Given the description of an element on the screen output the (x, y) to click on. 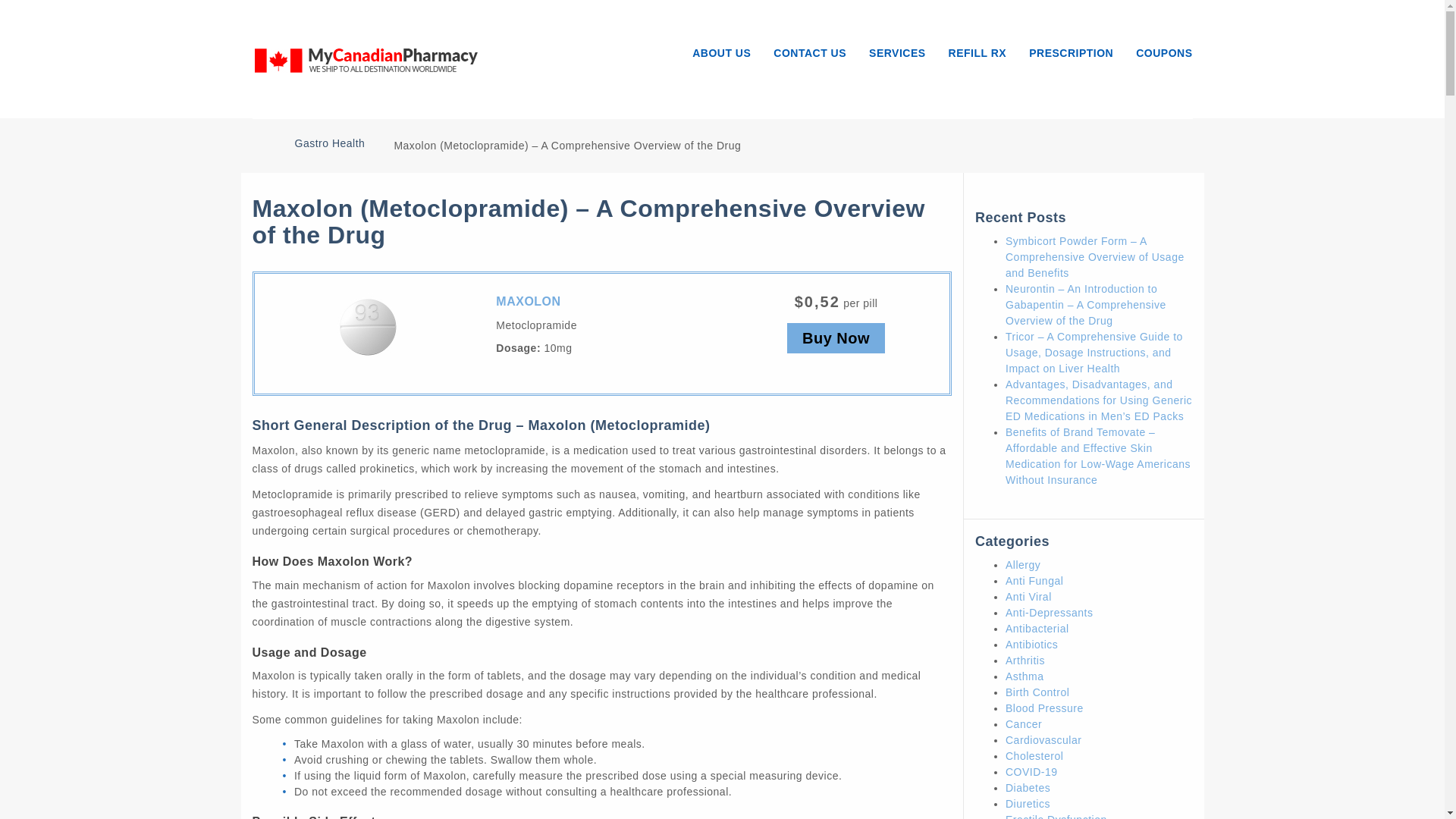
CONTACT US (809, 47)
Gastro Health (329, 143)
Go to My Canadian Pharmacy Provides HealthCare Means. (257, 141)
Cancer (1024, 724)
Buy Now (836, 337)
SERVICES (897, 47)
My Canadian Pharmacy Provides HealthCare Means (365, 58)
COUPONS (1158, 47)
Blood Pressure (1044, 707)
Birth Control (1037, 692)
Anti-Depressants (1049, 612)
Arthritis (1025, 660)
Anti Fungal (1034, 580)
Allergy (1023, 564)
PRESCRIPTION (1070, 47)
